Given the description of an element on the screen output the (x, y) to click on. 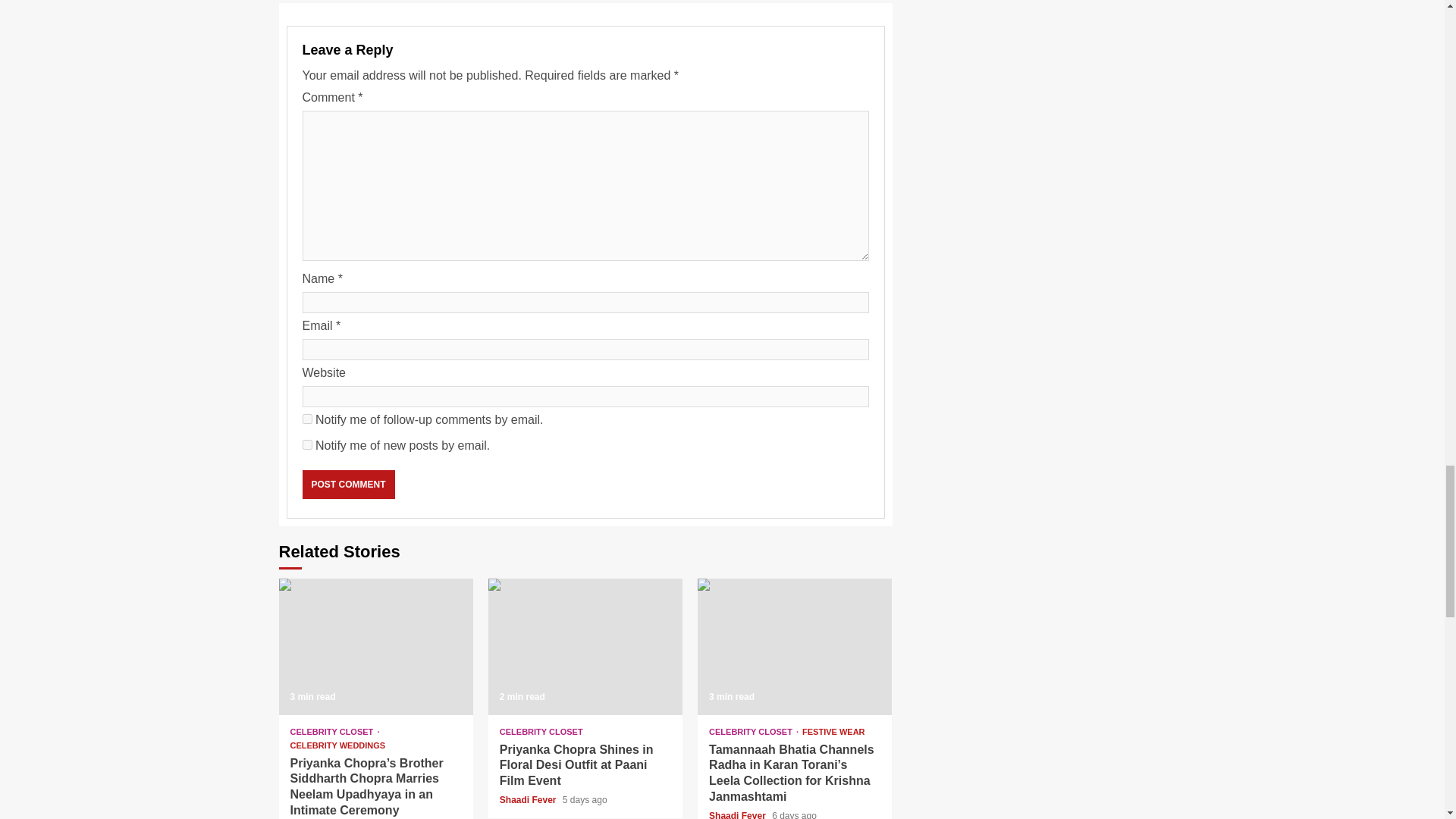
subscribe (306, 444)
Post Comment (347, 484)
subscribe (306, 419)
